Given the description of an element on the screen output the (x, y) to click on. 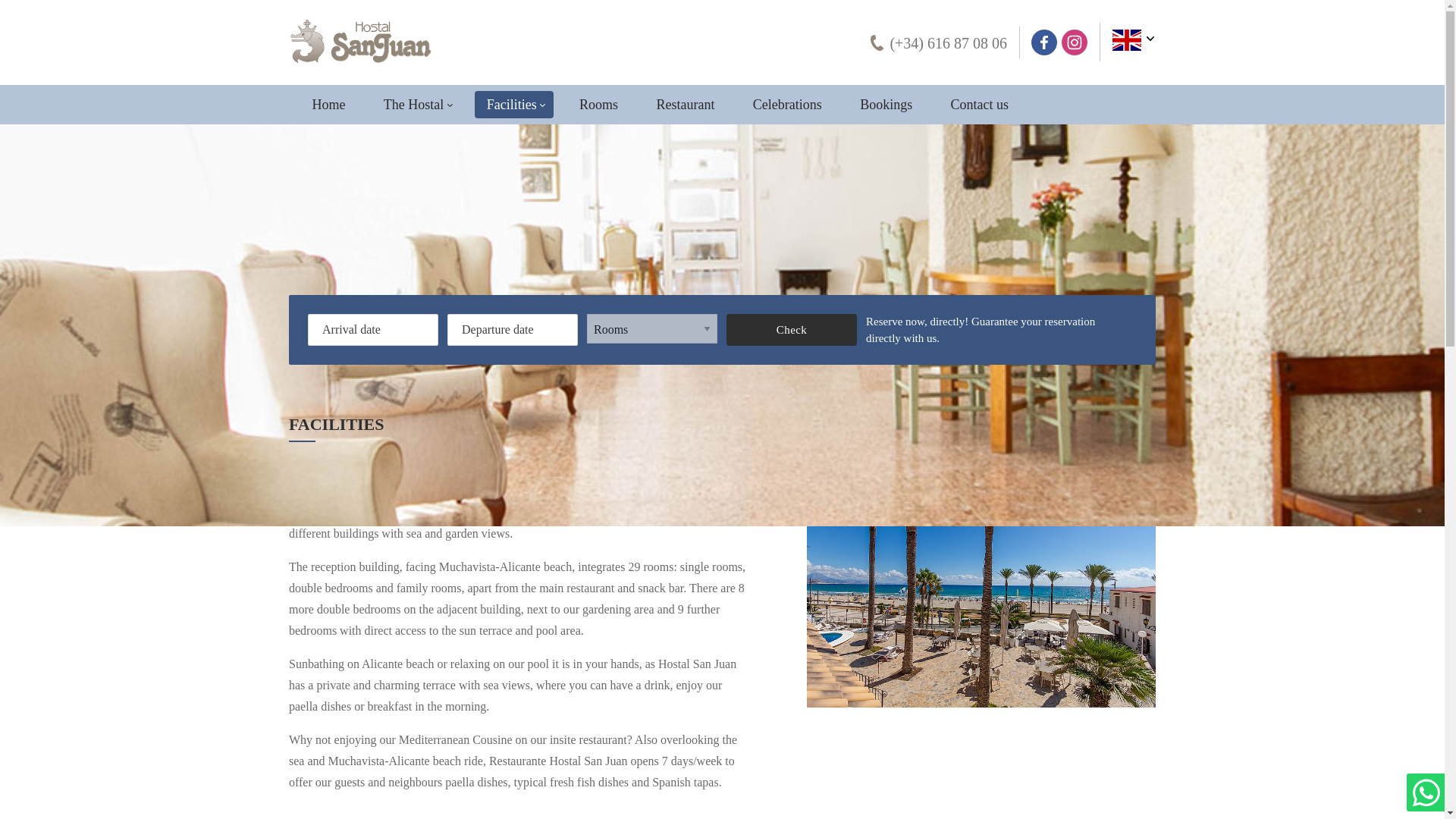
Restaurant (684, 103)
The Hostal (415, 103)
Facilities (513, 103)
Celebrations (787, 103)
Rooms (598, 103)
Restaurant (684, 103)
Facilities (513, 103)
Contact us (980, 103)
Home (327, 103)
Rooms (598, 103)
Home (327, 103)
Contact us (980, 103)
Celebrations (787, 103)
Check (791, 329)
The Hostal (415, 103)
